Given the description of an element on the screen output the (x, y) to click on. 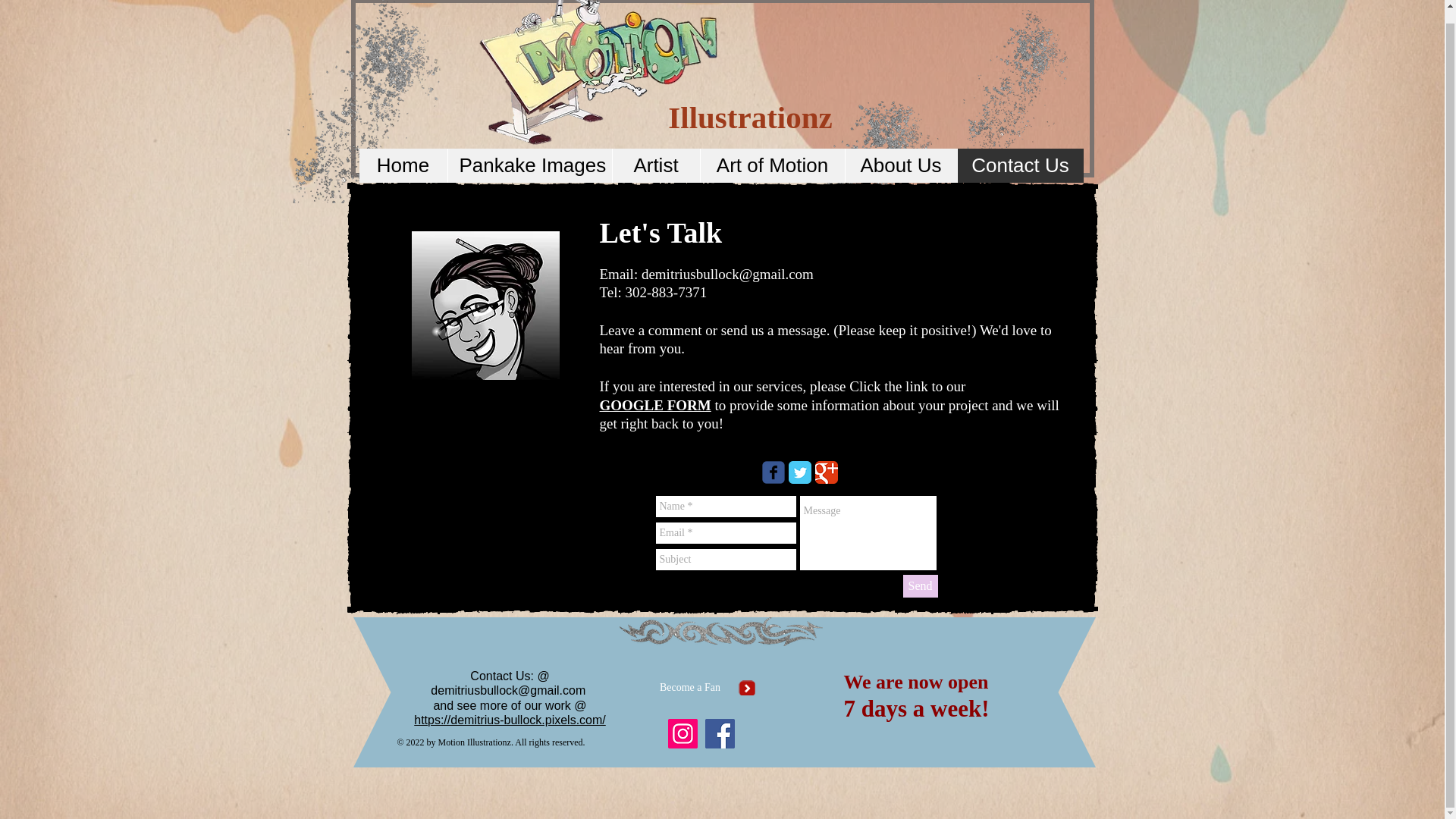
GOOGLE FORM (654, 404)
Pankake Images (528, 165)
Home (402, 165)
Become a Fan (690, 687)
Contact Us (1019, 165)
logo1.png (600, 80)
We are now open (915, 681)
Artist (654, 165)
Send (919, 585)
About Us (900, 165)
Art of Motion (771, 165)
